Given the description of an element on the screen output the (x, y) to click on. 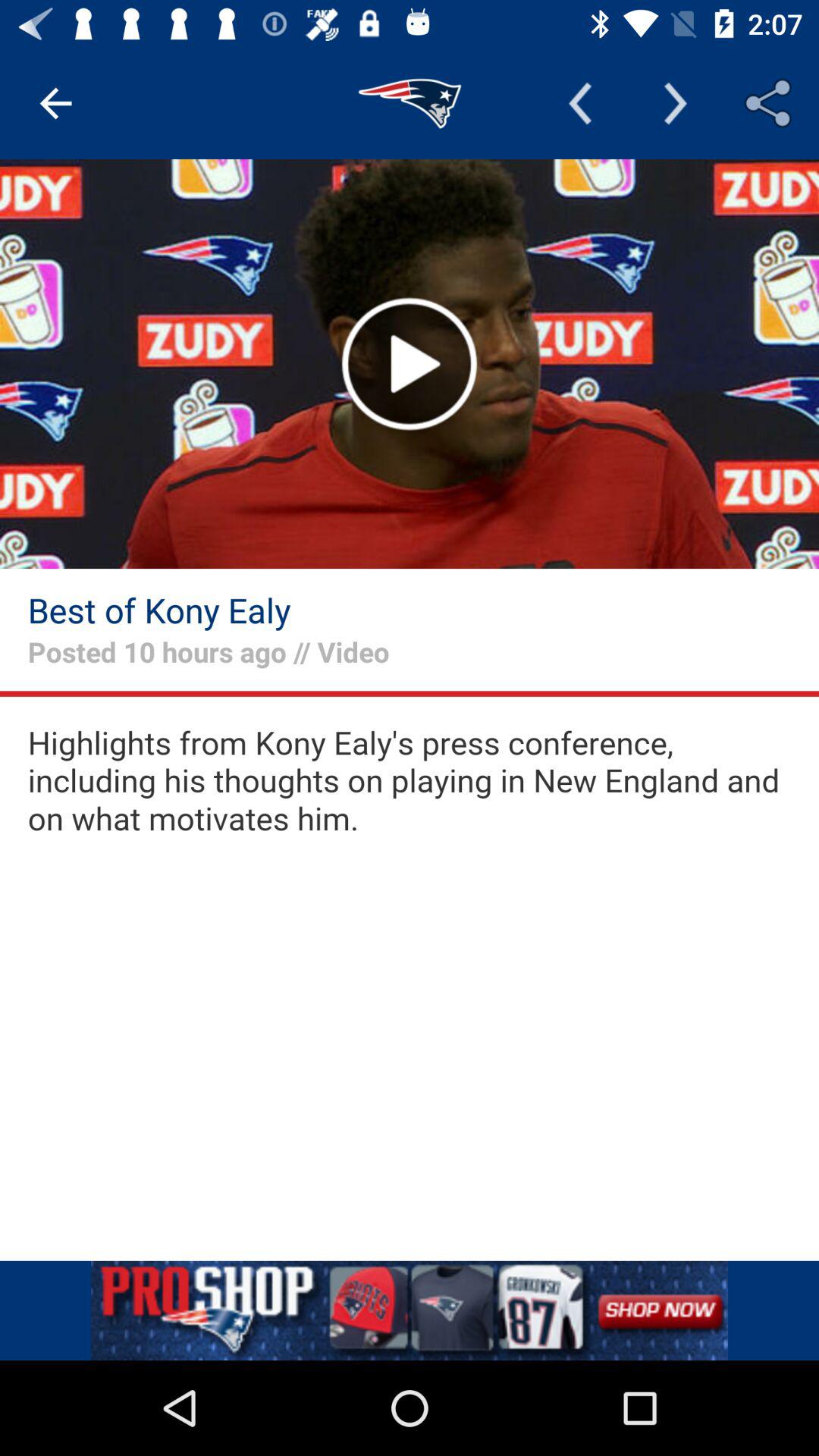
go to the pro shop (409, 1310)
